Given the description of an element on the screen output the (x, y) to click on. 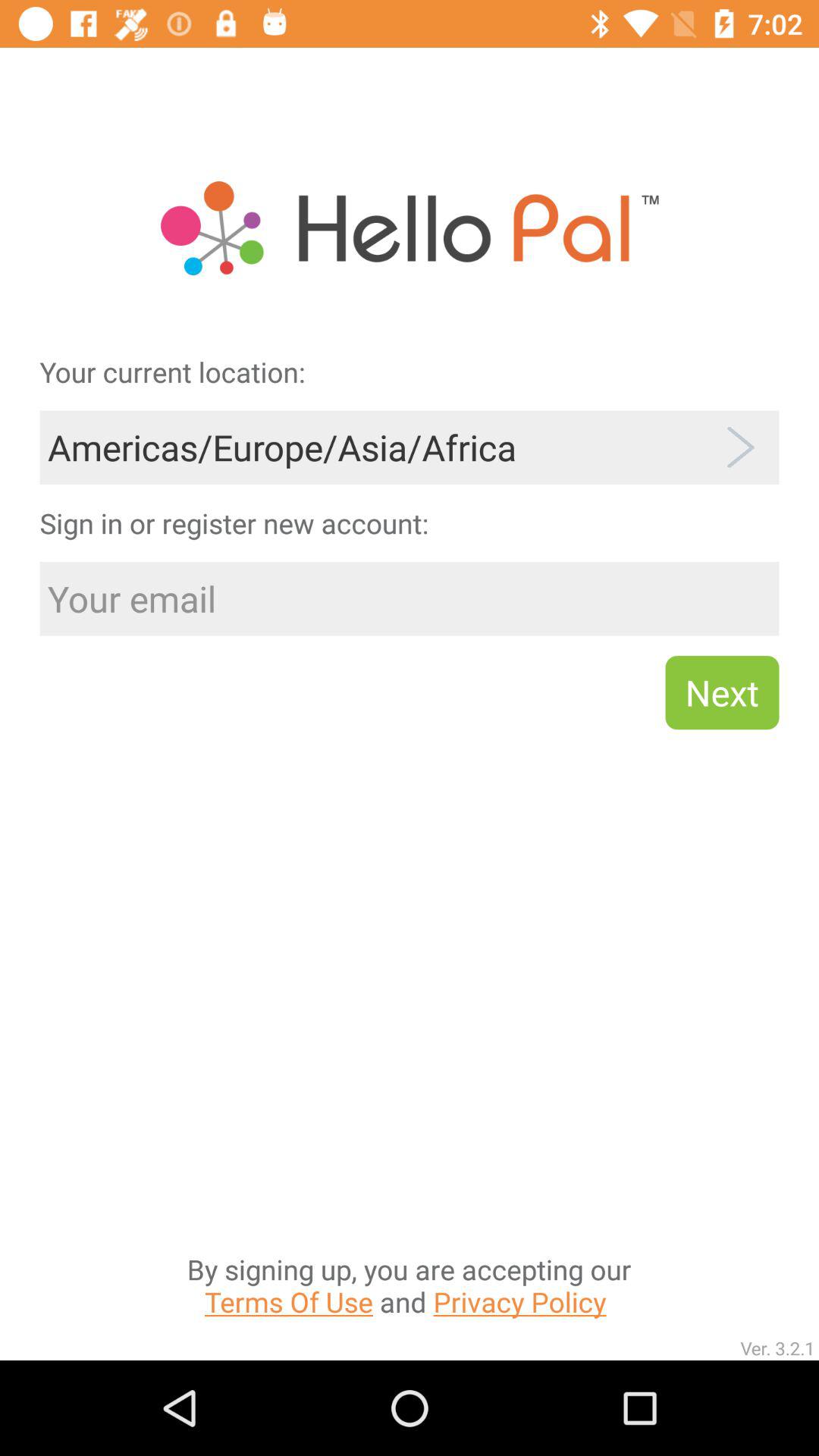
jump until the by signing up item (409, 1133)
